Given the description of an element on the screen output the (x, y) to click on. 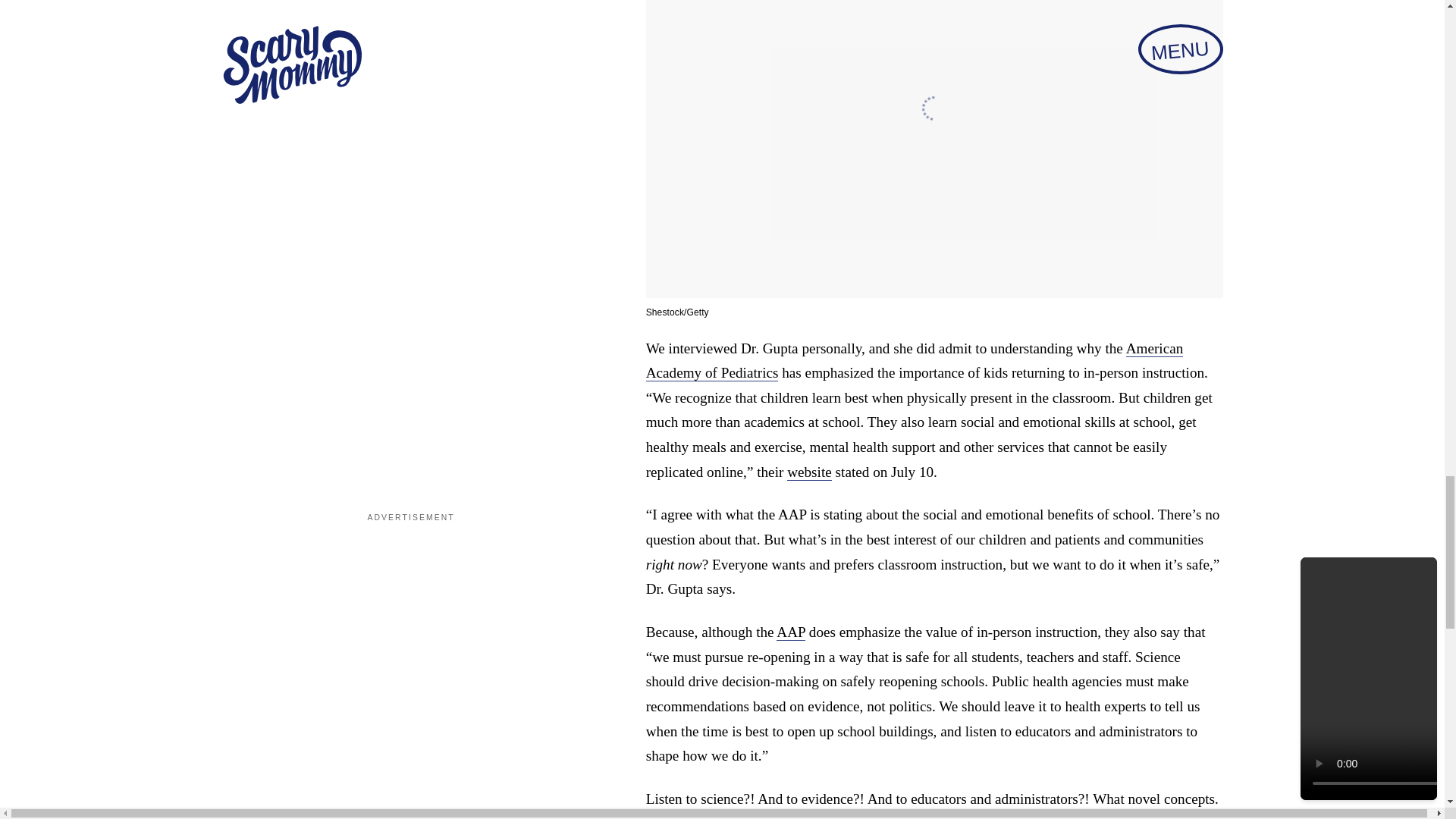
website (809, 472)
AAP (790, 632)
American Academy of Pediatrics (914, 361)
